Given the description of an element on the screen output the (x, y) to click on. 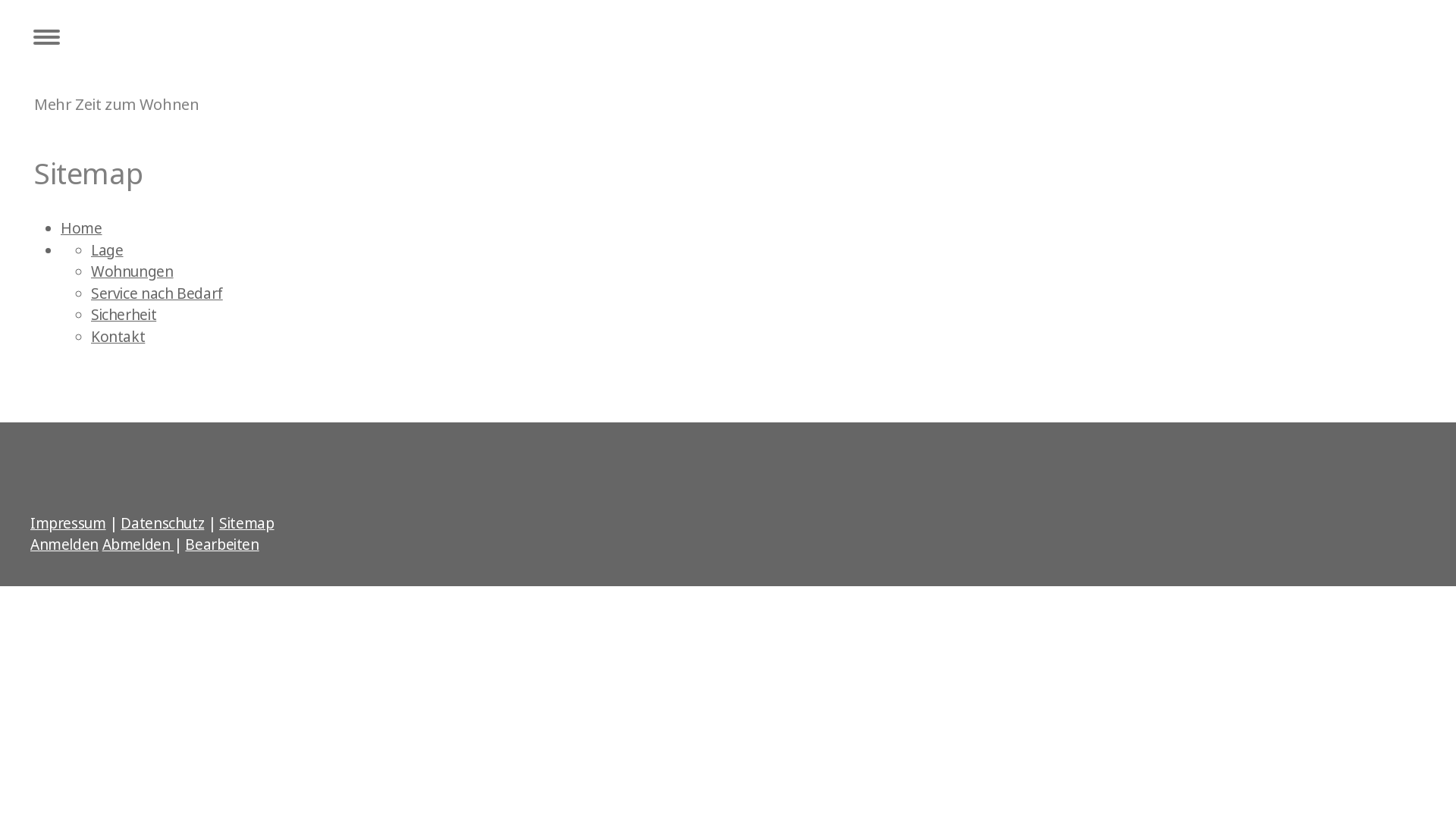
Sitemap Element type: text (246, 523)
Service nach Bedarf Element type: text (156, 293)
Lage Element type: text (106, 250)
Datenschutz Element type: text (161, 523)
Anmelden Element type: text (64, 544)
Bearbeiten Element type: text (221, 544)
Sicherheit Element type: text (123, 314)
Home Element type: text (80, 228)
Impressum Element type: text (68, 523)
Mehr Zeit zum Wohnen Element type: text (116, 103)
Wohnungen Element type: text (132, 271)
Kontakt Element type: text (117, 336)
Abmelden Element type: text (138, 544)
